Given the description of an element on the screen output the (x, y) to click on. 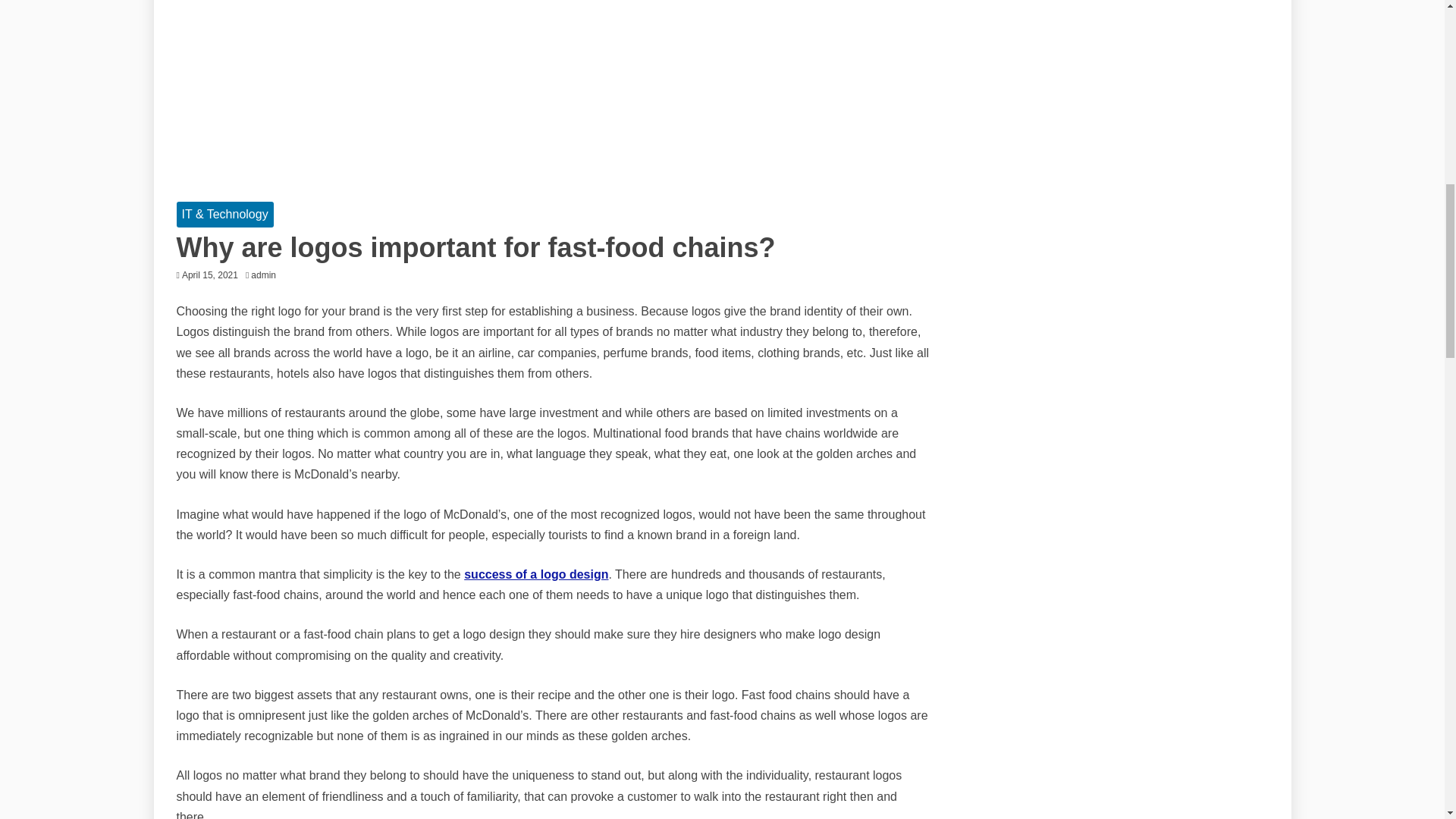
April 15, 2021 (210, 275)
success of a logo design (536, 574)
admin (266, 275)
